Given the description of an element on the screen output the (x, y) to click on. 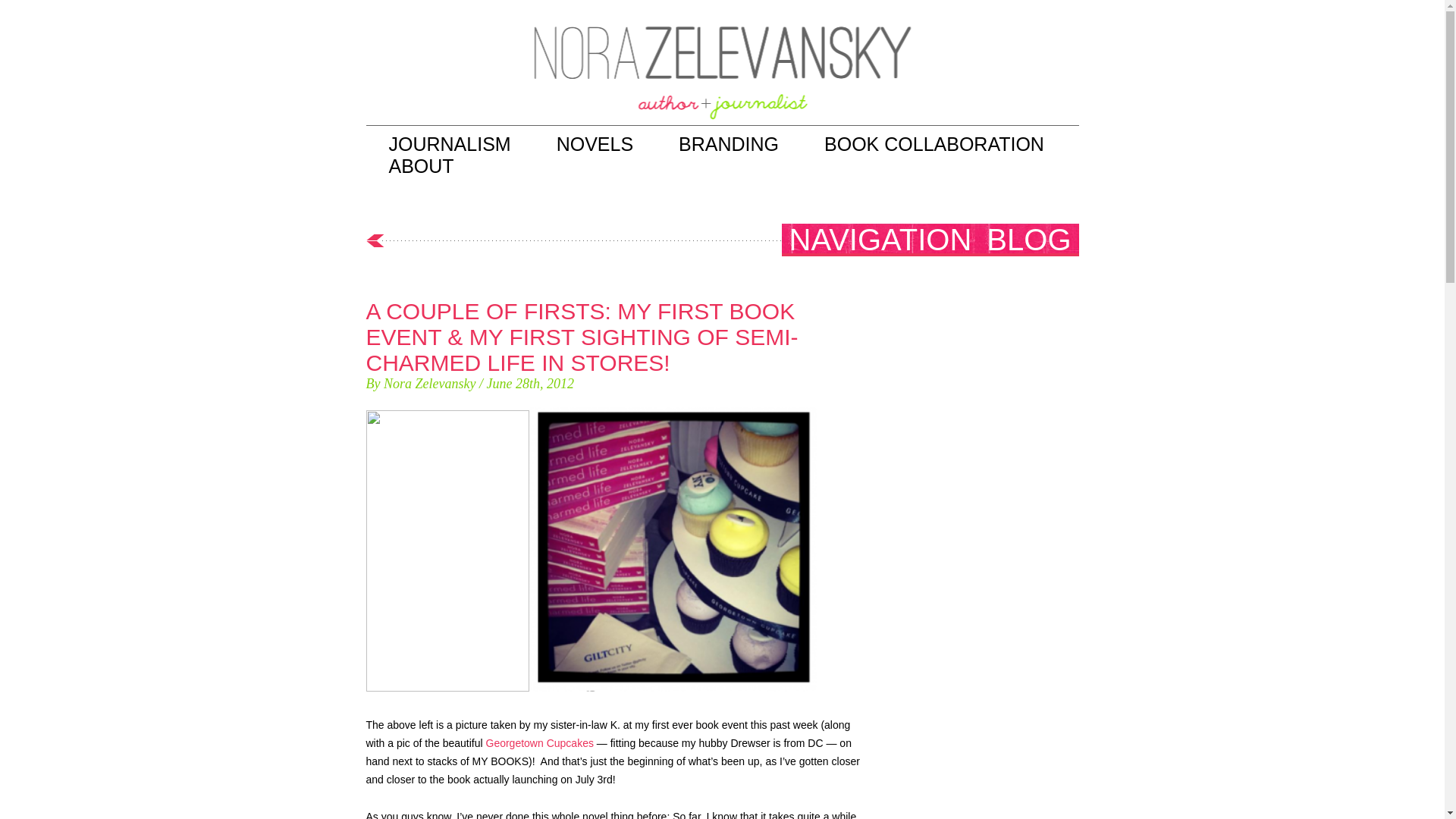
NOVELS (594, 143)
BRANDING (728, 143)
Screen shot 2012-06-26 at 11.33.47 PM (672, 549)
JOURNALISM (449, 143)
BOOK COLLABORATION (933, 143)
Georgetown Cupcakes (538, 743)
ABOUT (420, 165)
